Given the description of an element on the screen output the (x, y) to click on. 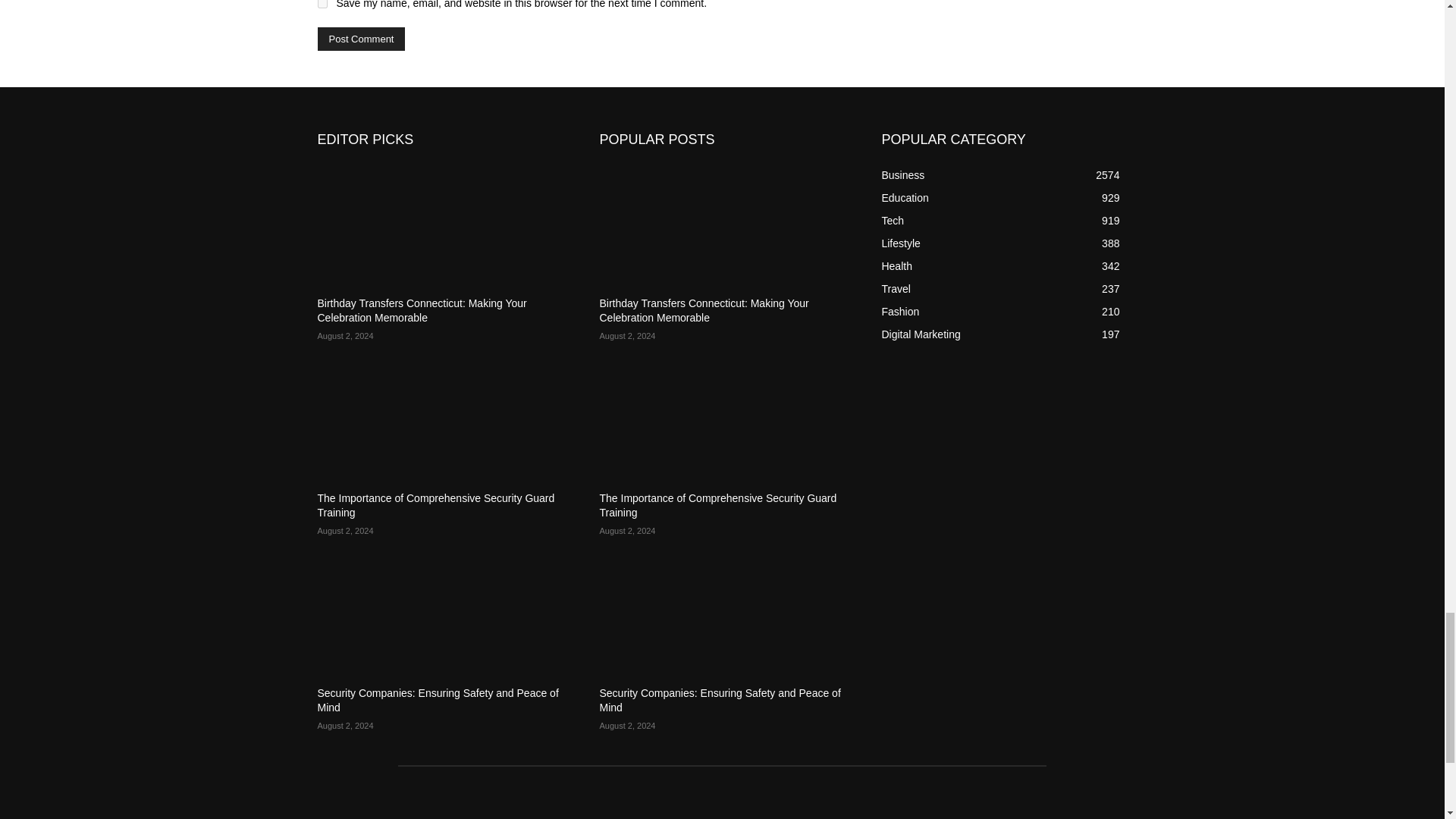
yes (321, 4)
Post Comment (360, 38)
